Given the description of an element on the screen output the (x, y) to click on. 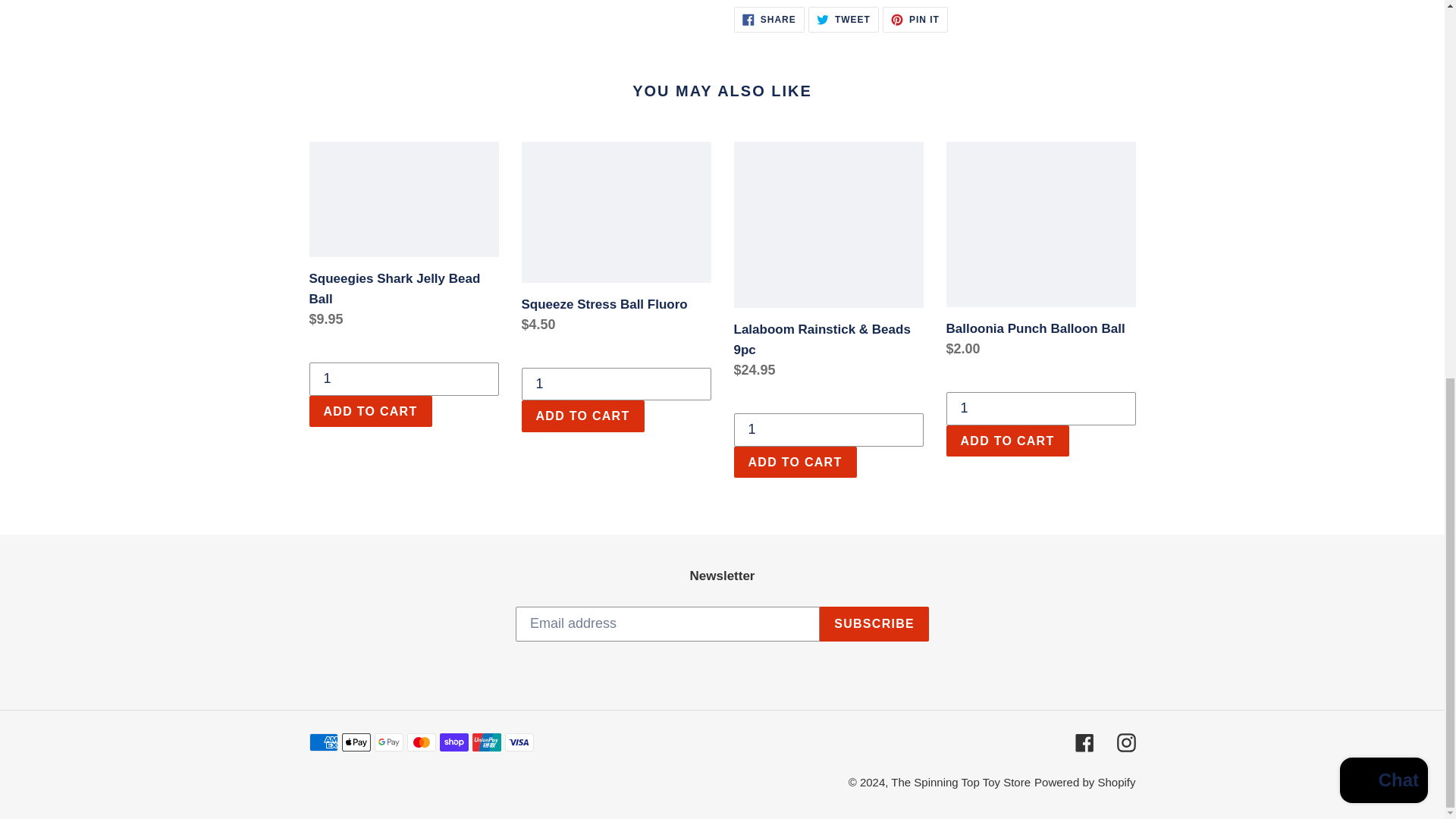
1 (403, 378)
1 (1040, 408)
1 (769, 19)
Add to cart (828, 429)
Squeegies Shark Jelly Bead Ball (370, 410)
Add to cart (403, 237)
Add to cart (583, 415)
Add to cart (843, 19)
